Given the description of an element on the screen output the (x, y) to click on. 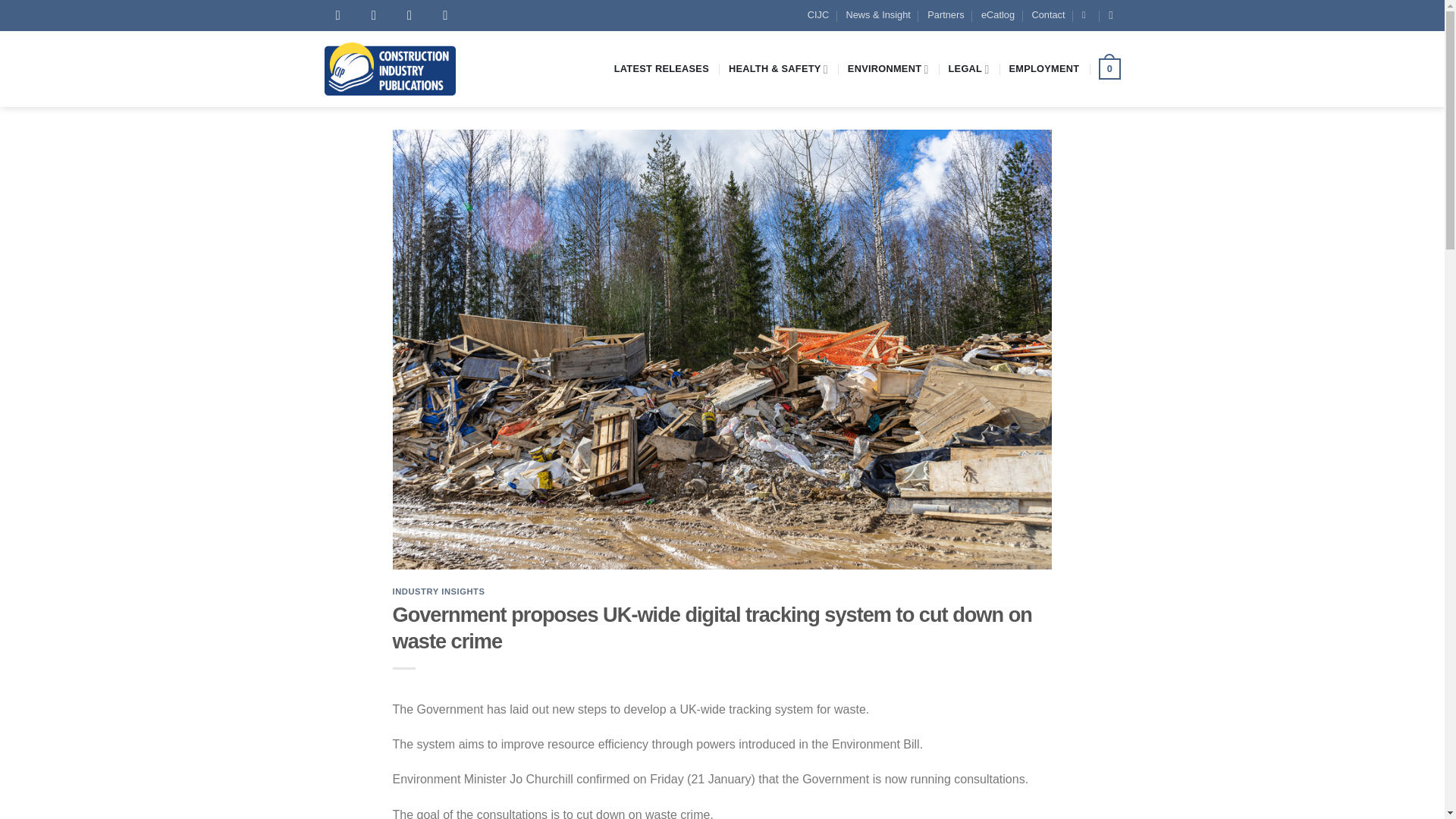
Partners (945, 15)
eCatlog (997, 15)
Follow on Facebook (342, 15)
Follow on YouTube (449, 15)
CIJC (818, 15)
EMPLOYMENT (1043, 68)
Follow on LinkedIn (413, 15)
Contact (1047, 15)
ENVIRONMENT (887, 69)
LEGAL (969, 69)
